Given the description of an element on the screen output the (x, y) to click on. 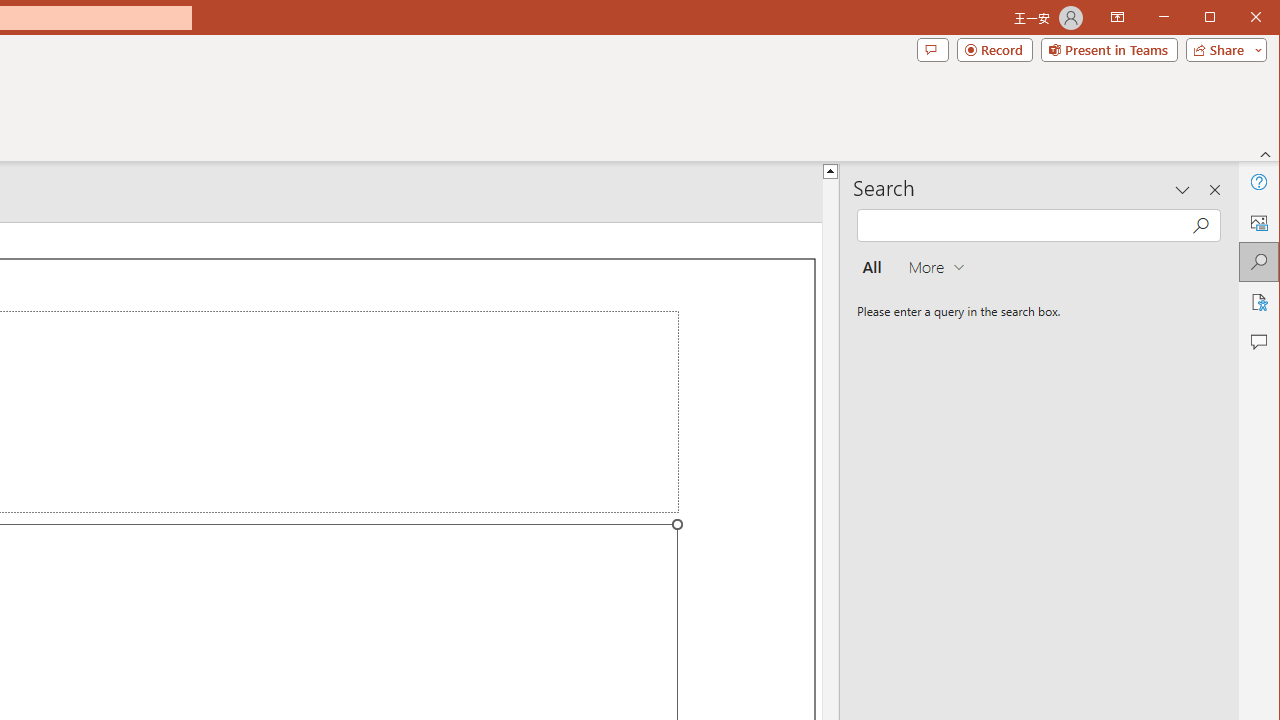
Accessibility (1258, 301)
Close pane (1215, 189)
Close (1261, 18)
Comments (1258, 341)
Task Pane Options (1183, 189)
Minimize (1216, 18)
Share (1222, 49)
Search (1258, 261)
Alt Text (1258, 221)
Ribbon Display Options (1117, 17)
Maximize (1238, 18)
Help (1258, 182)
Comments (932, 49)
